Given the description of an element on the screen output the (x, y) to click on. 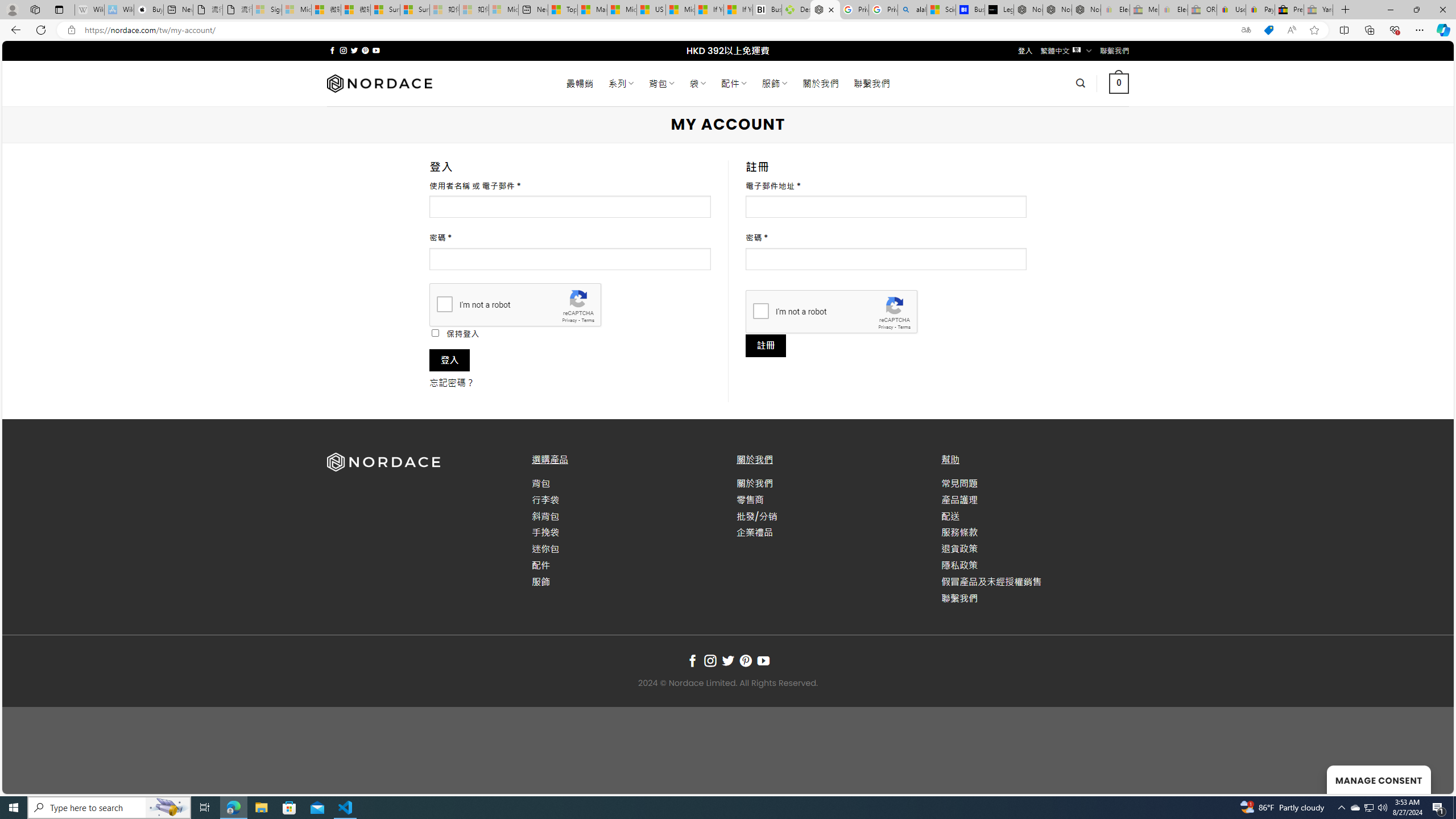
MANAGE CONSENT (1378, 779)
Press Room - eBay Inc. (1288, 9)
Marine life - MSN (591, 9)
Terms (903, 326)
